Given the description of an element on the screen output the (x, y) to click on. 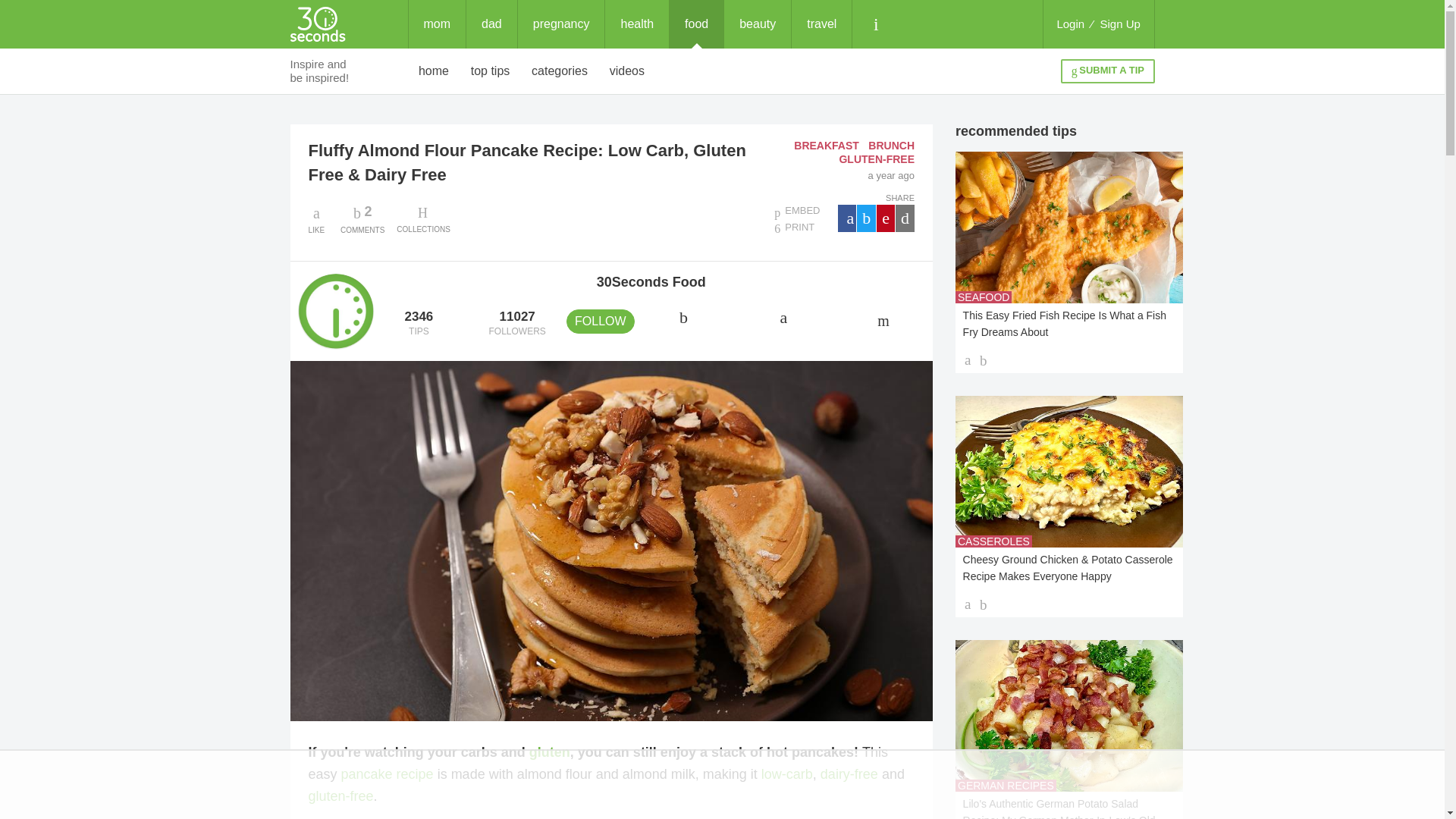
beauty (756, 24)
top tips (489, 71)
health (636, 24)
dad (490, 24)
food (362, 218)
categories (696, 24)
travel (559, 71)
Login (821, 24)
pregnancy (1069, 23)
Sign Up (561, 24)
home (1120, 23)
mom (433, 71)
